Given the description of an element on the screen output the (x, y) to click on. 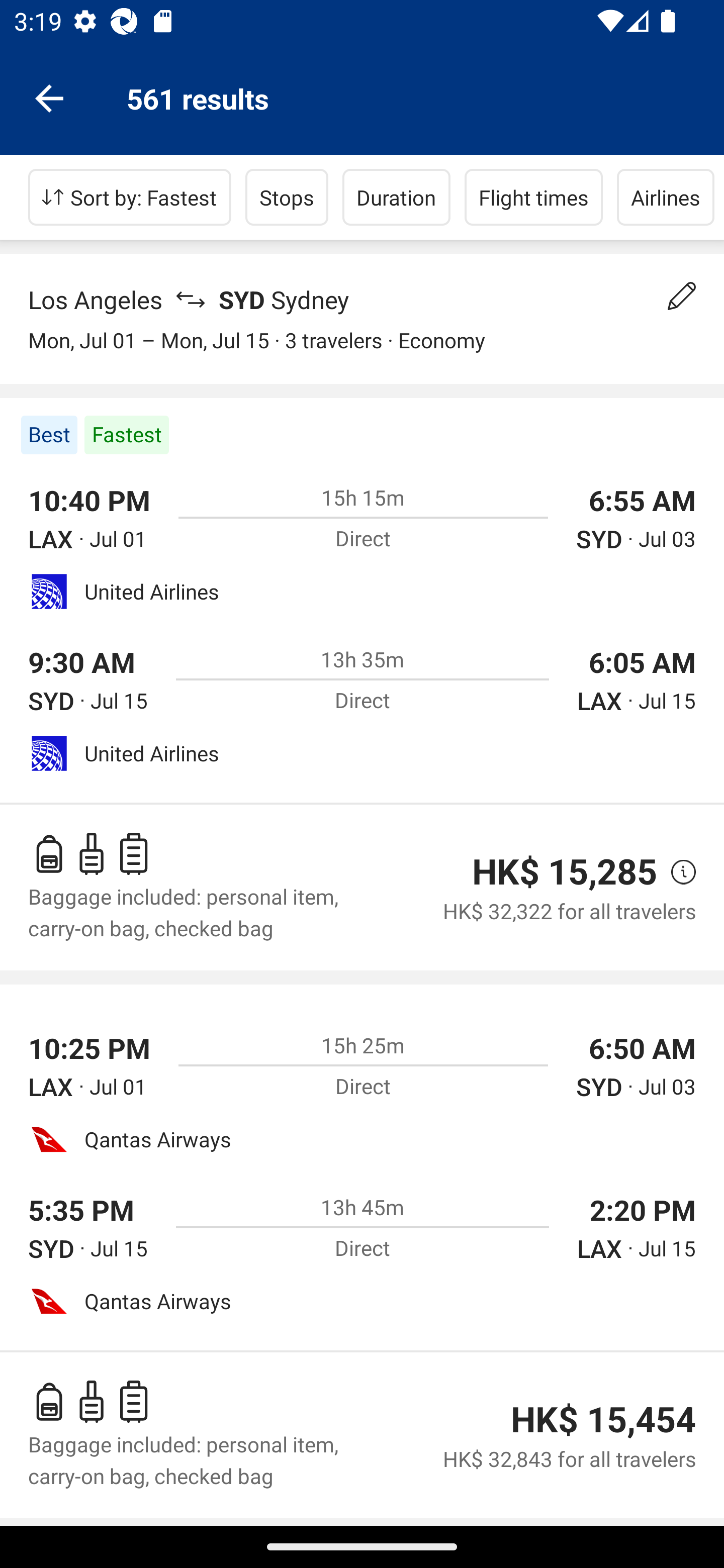
Navigate up (49, 97)
Sort by: Fastest (129, 197)
Stops (286, 197)
Duration (396, 197)
Flight times (533, 197)
Airlines (665, 197)
Change your search details (681, 296)
HK$ 15,285 (564, 871)
view price details, opens a pop-up (676, 872)
HK$ 15,454 (603, 1419)
